Given the description of an element on the screen output the (x, y) to click on. 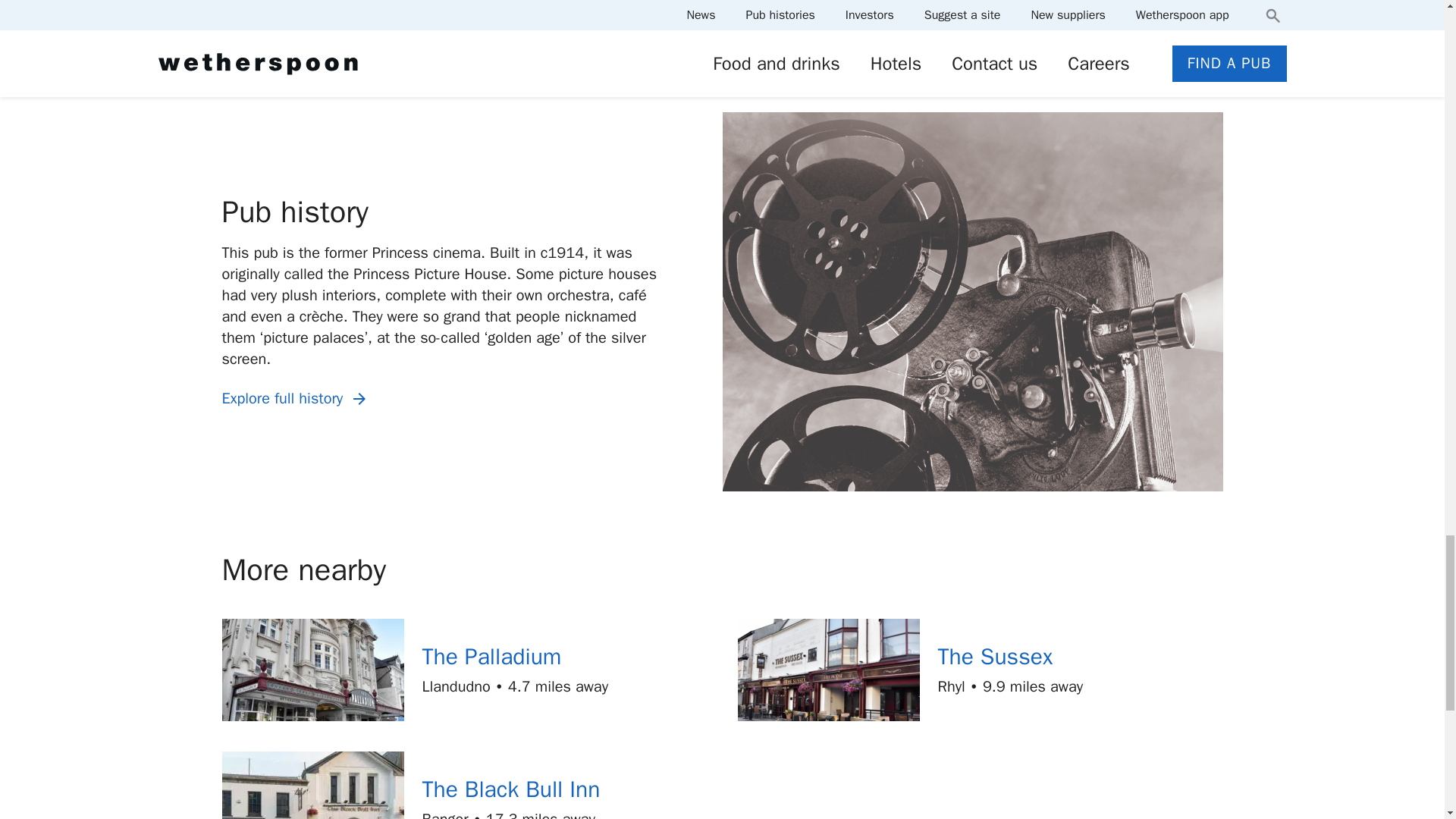
Explore full history (296, 398)
The Sussex (994, 656)
The Palladium (491, 656)
